Given the description of an element on the screen output the (x, y) to click on. 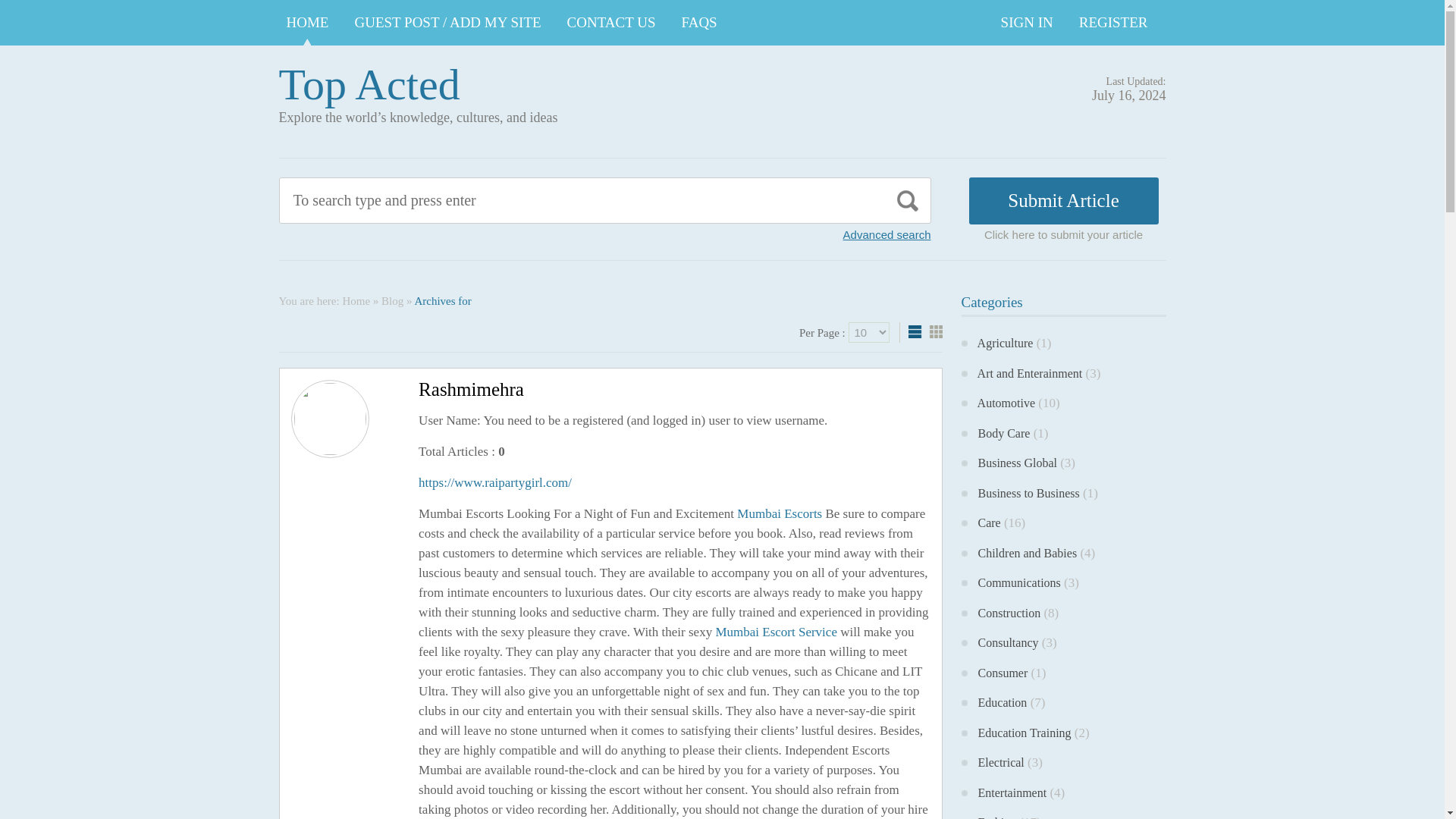
Home (355, 300)
SIGN IN (1026, 22)
FAQS (699, 22)
CONTACT US (611, 22)
Advanced search (887, 234)
Blog (392, 300)
To search type and press enter (535, 200)
Mumbai Escorts (779, 513)
Submit Article (1063, 200)
HOME (307, 22)
Mumbai Escort Service (775, 631)
Top Acted (369, 83)
REGISTER (1113, 22)
